Given the description of an element on the screen output the (x, y) to click on. 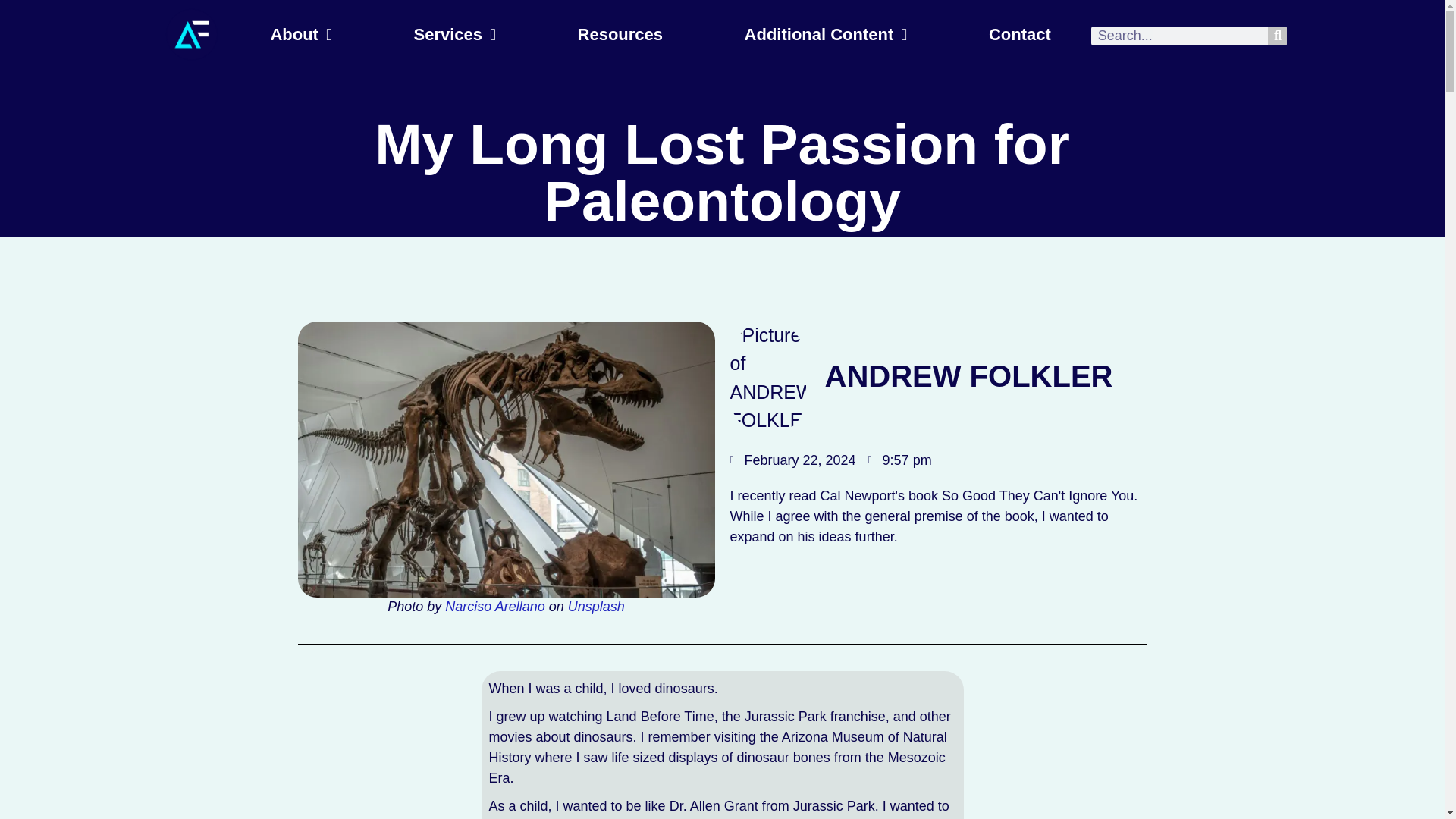
Resources (620, 34)
About (301, 34)
Unsplash (595, 606)
Contact (1018, 34)
February 22, 2024 (792, 460)
Services (454, 34)
Narciso Arellano (494, 606)
Additional Content (825, 34)
